Given the description of an element on the screen output the (x, y) to click on. 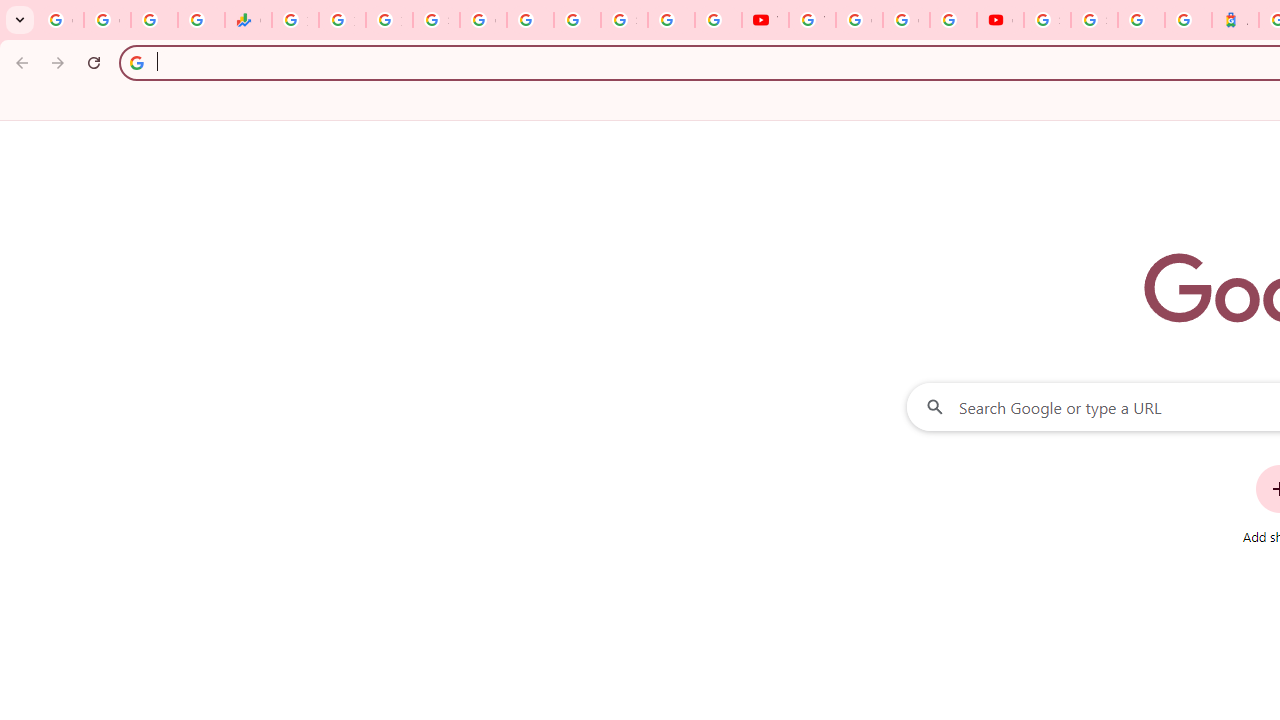
YouTube (811, 20)
Privacy Checkup (718, 20)
